Given the description of an element on the screen output the (x, y) to click on. 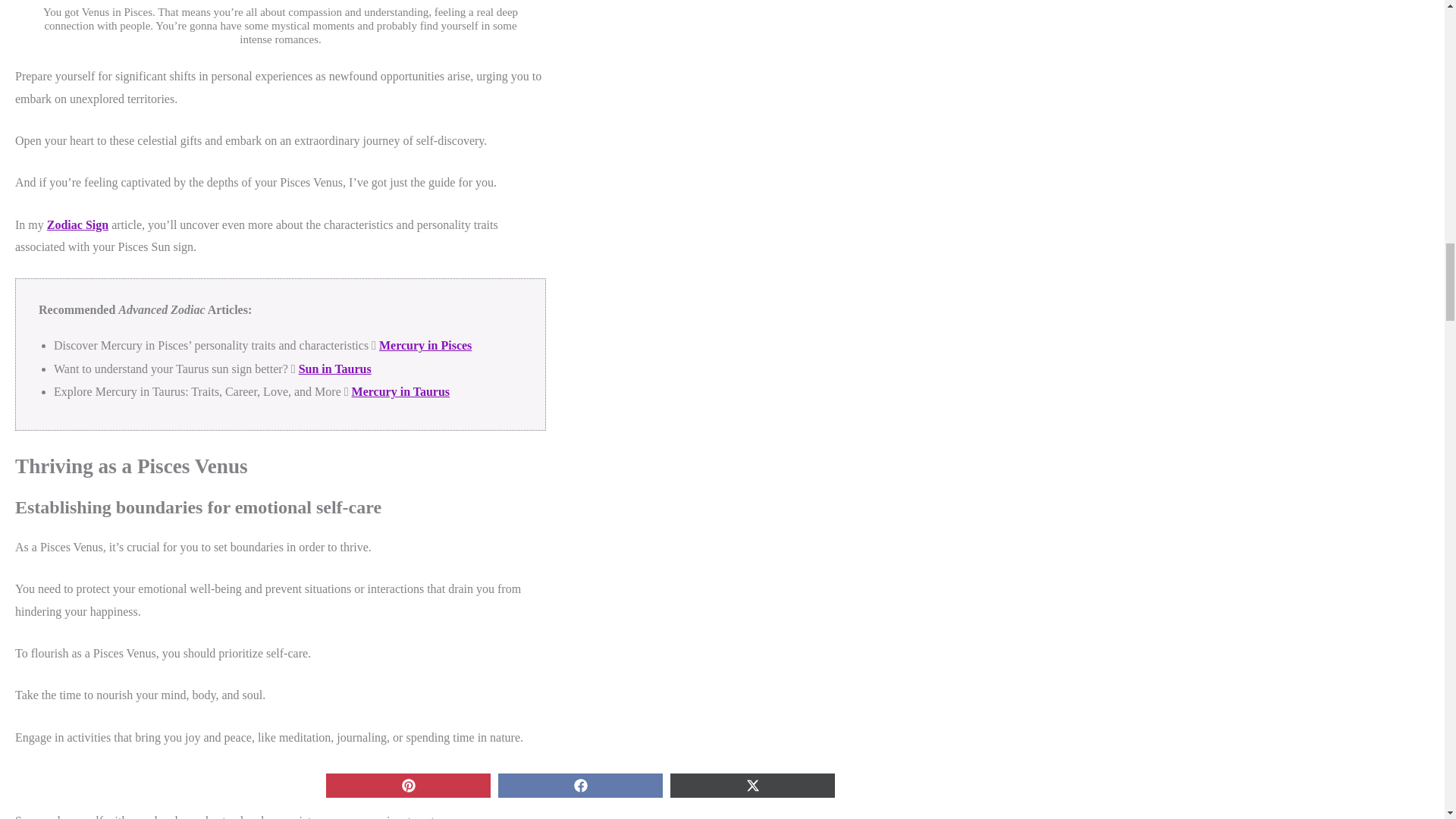
Zodiac Sign (76, 224)
Sun in Taurus (334, 368)
Mercury in Pisces (424, 345)
Mercury in Taurus (400, 391)
